Given the description of an element on the screen output the (x, y) to click on. 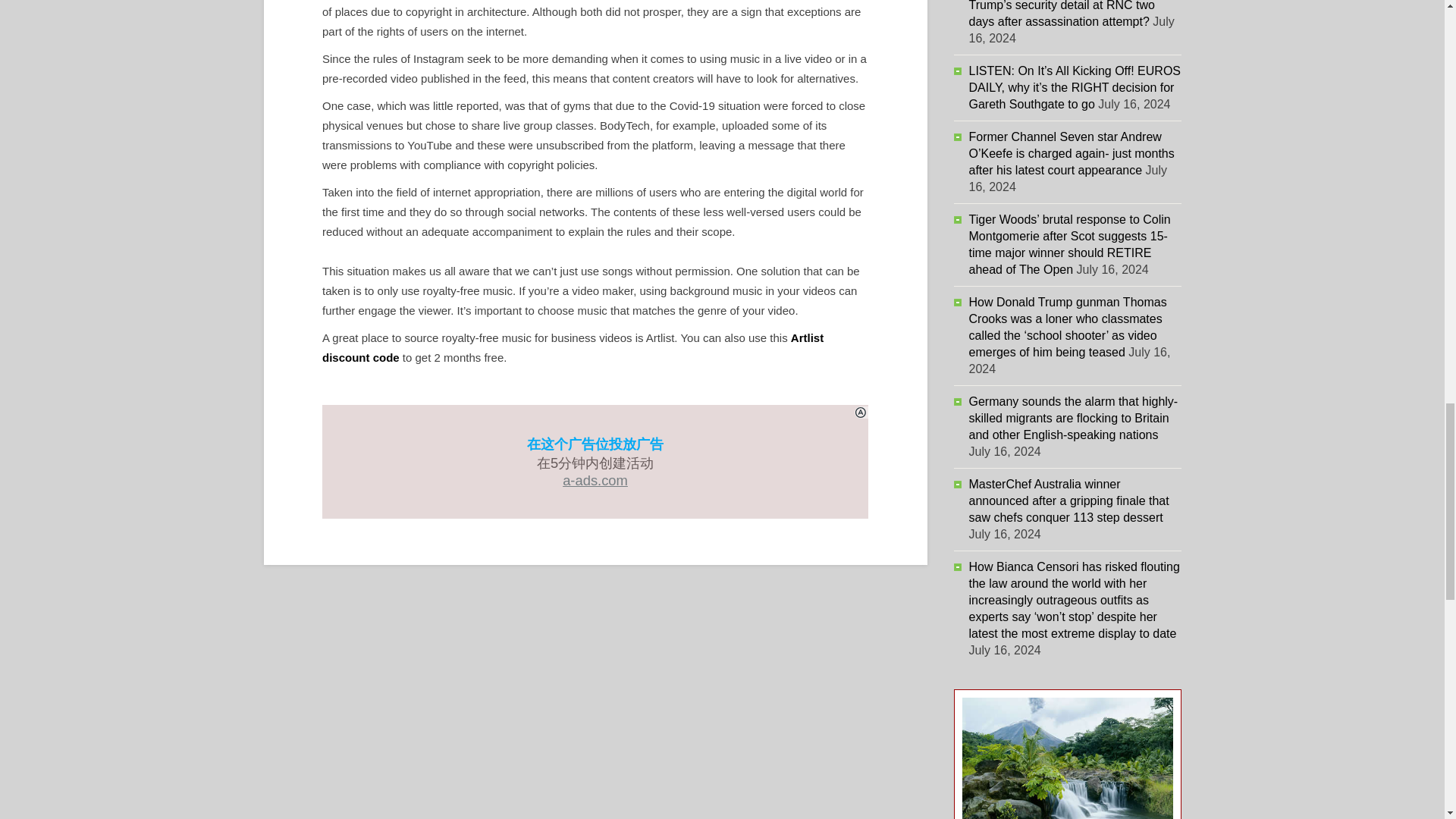
Artlist discount code (572, 347)
